Given the description of an element on the screen output the (x, y) to click on. 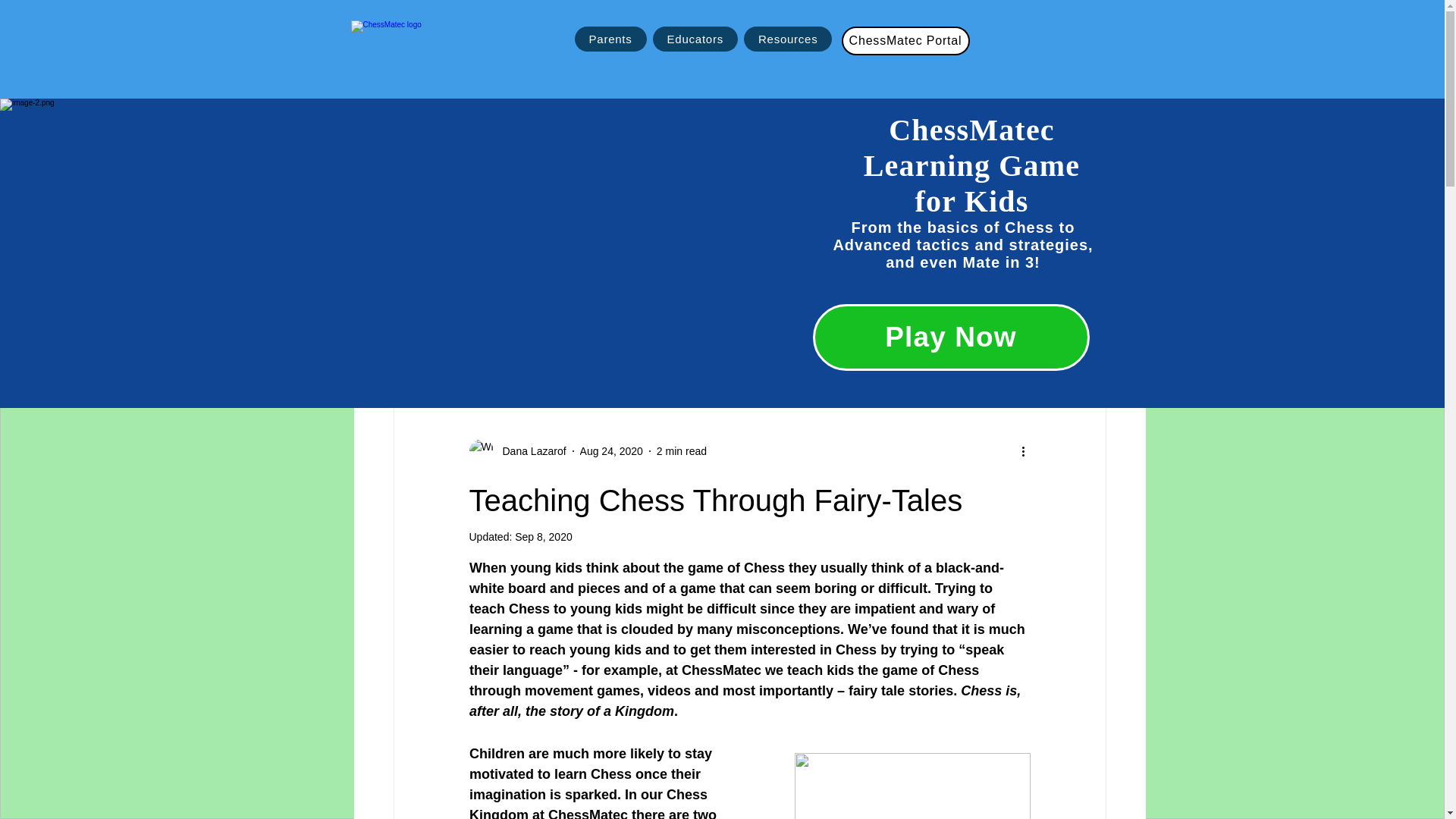
Aug 24, 2020 (611, 450)
2 min read (681, 450)
Chess home school, teach chess 5 ye (831, 347)
Play Now (950, 337)
Sep 8, 2020 (543, 536)
Dana Lazarof (529, 450)
All Posts (404, 347)
ChessMatec Portal (905, 40)
Online chess lessons , online platf (572, 347)
Dana Lazarof (517, 450)
